Given the description of an element on the screen output the (x, y) to click on. 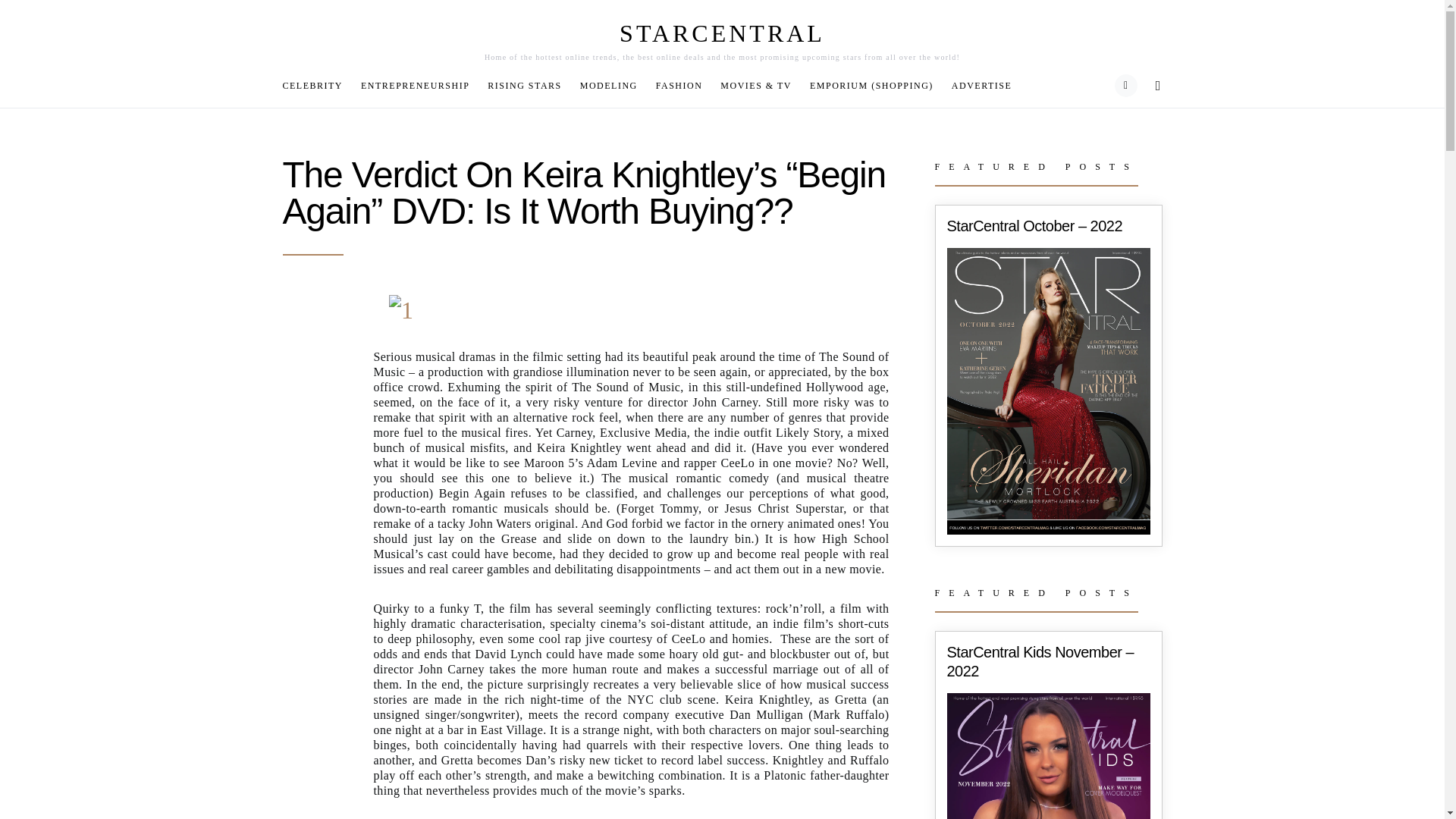
View your shopping cart (1126, 85)
CELEBRITY (317, 84)
MODELING (608, 84)
RISING STARS (524, 84)
ADVERTISE (976, 84)
FASHION (678, 84)
ENTREPRENEURSHIP (415, 84)
STARCENTRAL (721, 33)
